Given the description of an element on the screen output the (x, y) to click on. 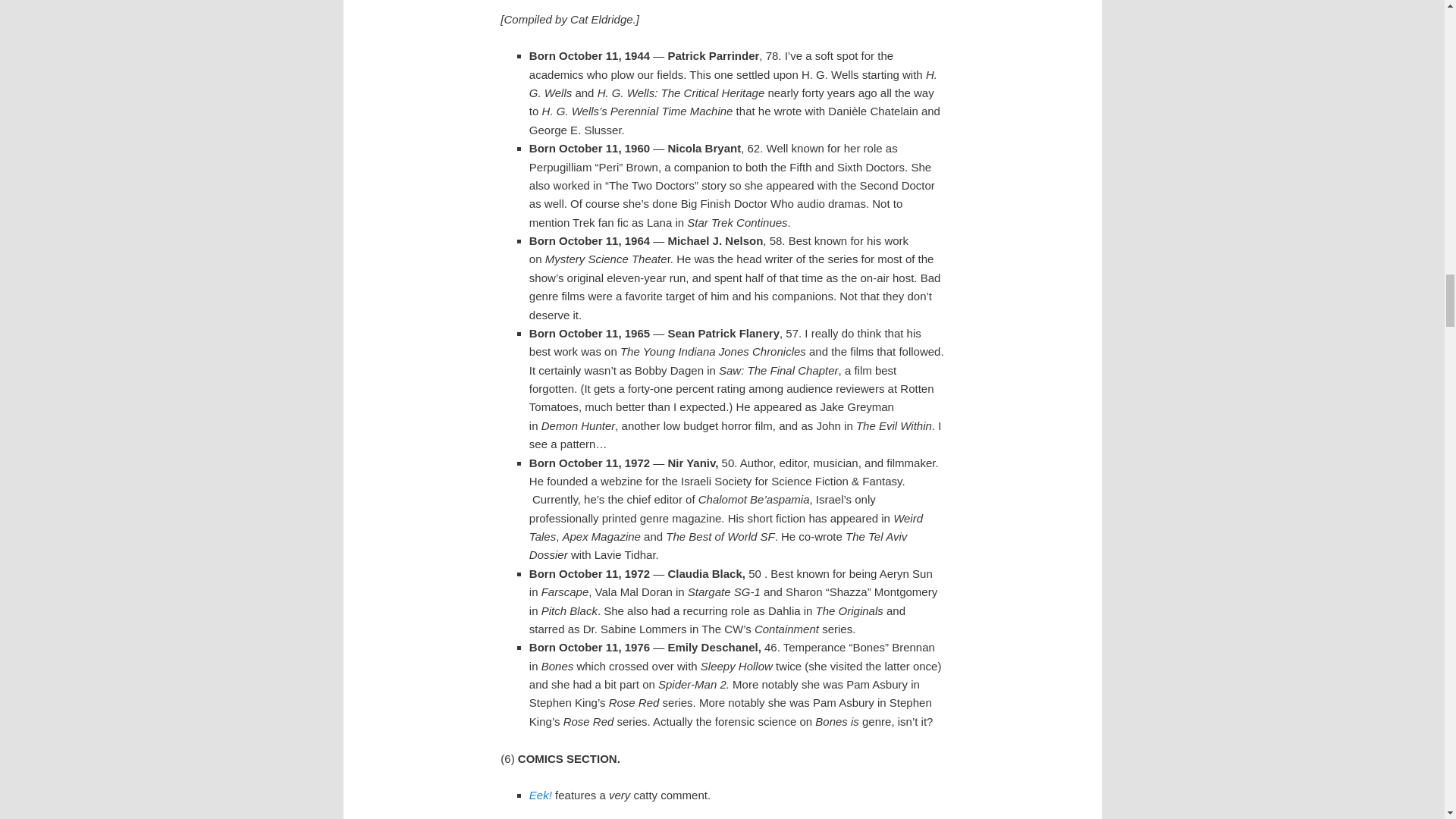
Eek! (540, 794)
